Given the description of an element on the screen output the (x, y) to click on. 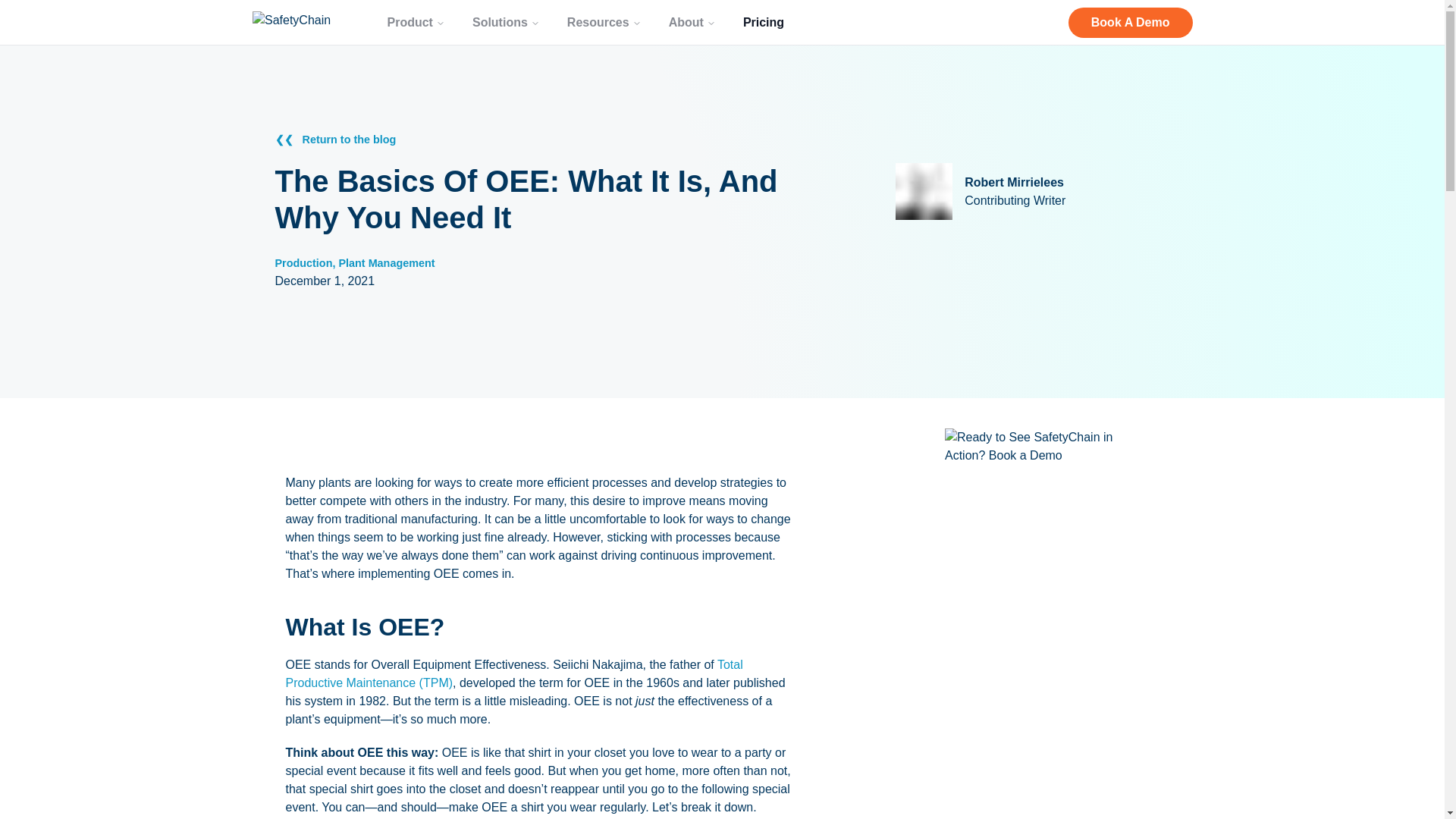
About (692, 21)
, Plant Management (382, 263)
Resources (603, 21)
Product (415, 21)
Pricing (763, 21)
Production (303, 263)
Book A Demo (1130, 22)
Solutions (505, 21)
